Given the description of an element on the screen output the (x, y) to click on. 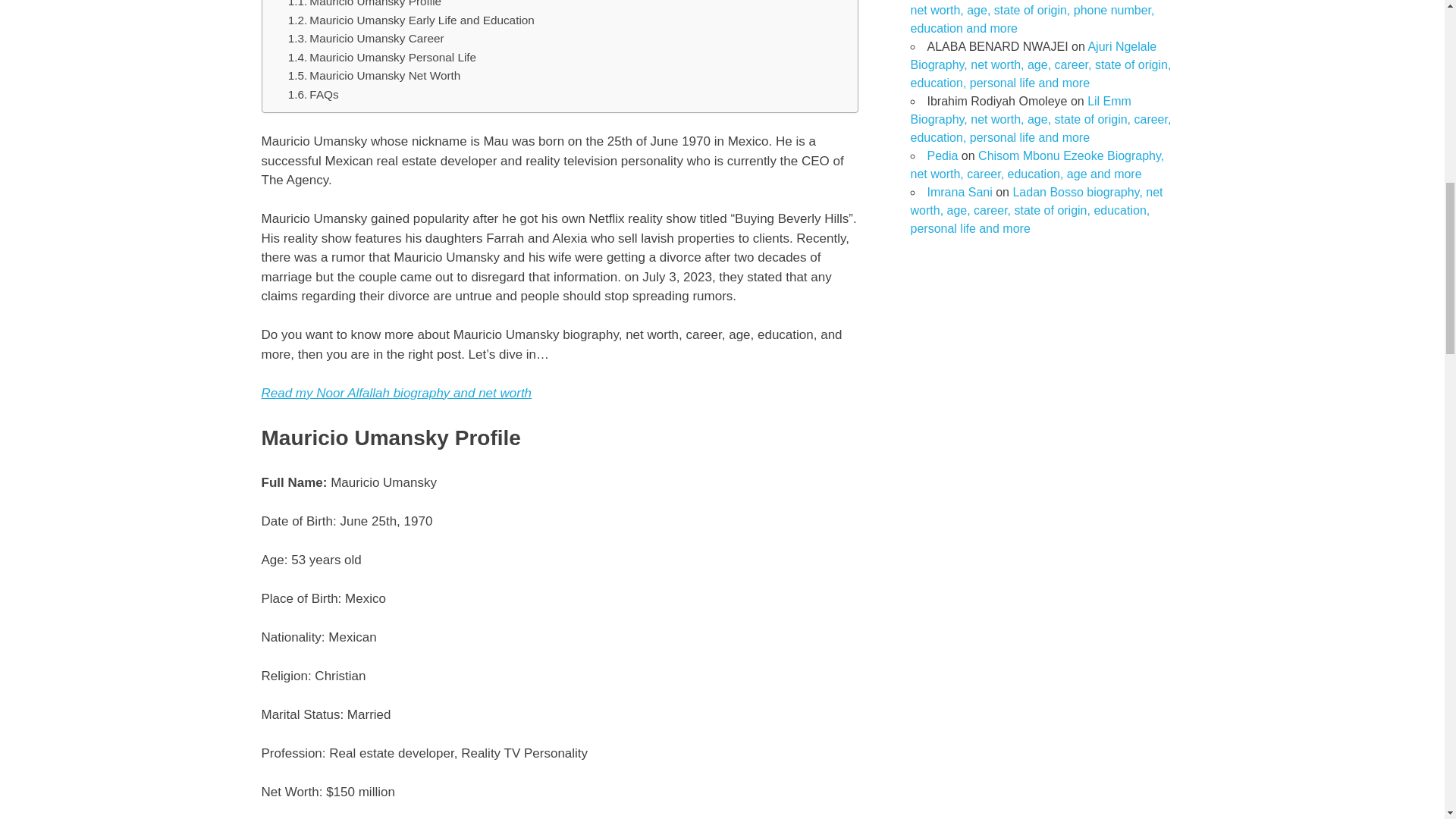
Mauricio Umansky Personal Life (382, 57)
Mauricio Umansky Career (366, 38)
FAQs (313, 94)
Mauricio Umansky Profile (364, 5)
Mauricio Umansky Net Worth (374, 75)
FAQs (313, 94)
Mauricio Umansky Career (366, 38)
Read my Noor Alfallah biography and net worth (395, 392)
